Given the description of an element on the screen output the (x, y) to click on. 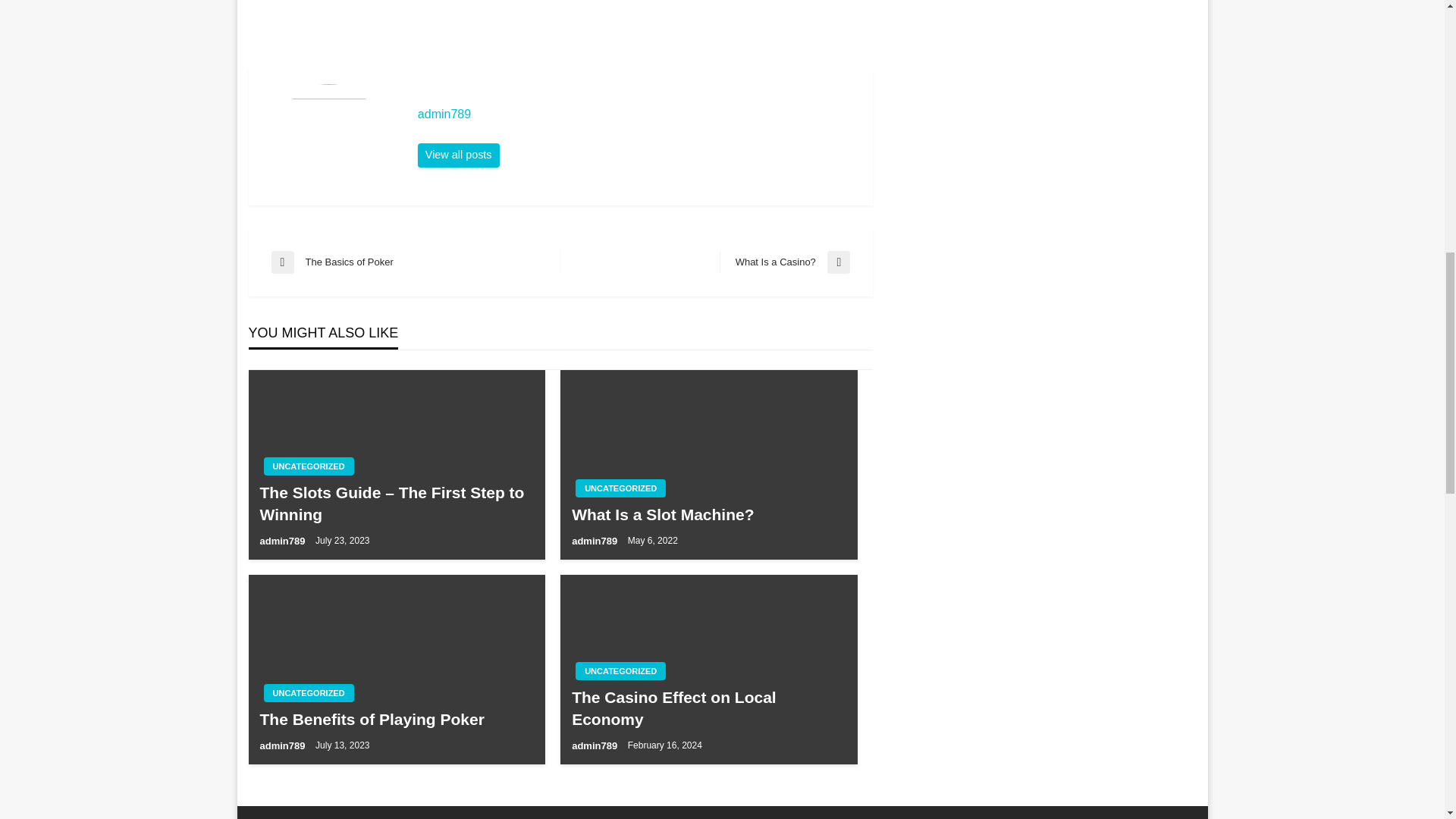
The Casino Effect on Local Economy (708, 708)
The Benefits of Playing Poker (396, 719)
UNCATEGORIZED (620, 670)
admin789 (637, 114)
admin789 (637, 114)
admin789 (283, 541)
UNCATEGORIZED (784, 261)
What Is a Slot Machine? (620, 488)
admin789 (708, 514)
admin789 (596, 745)
View all posts (596, 541)
admin789 (458, 155)
admin789 (283, 745)
